Given the description of an element on the screen output the (x, y) to click on. 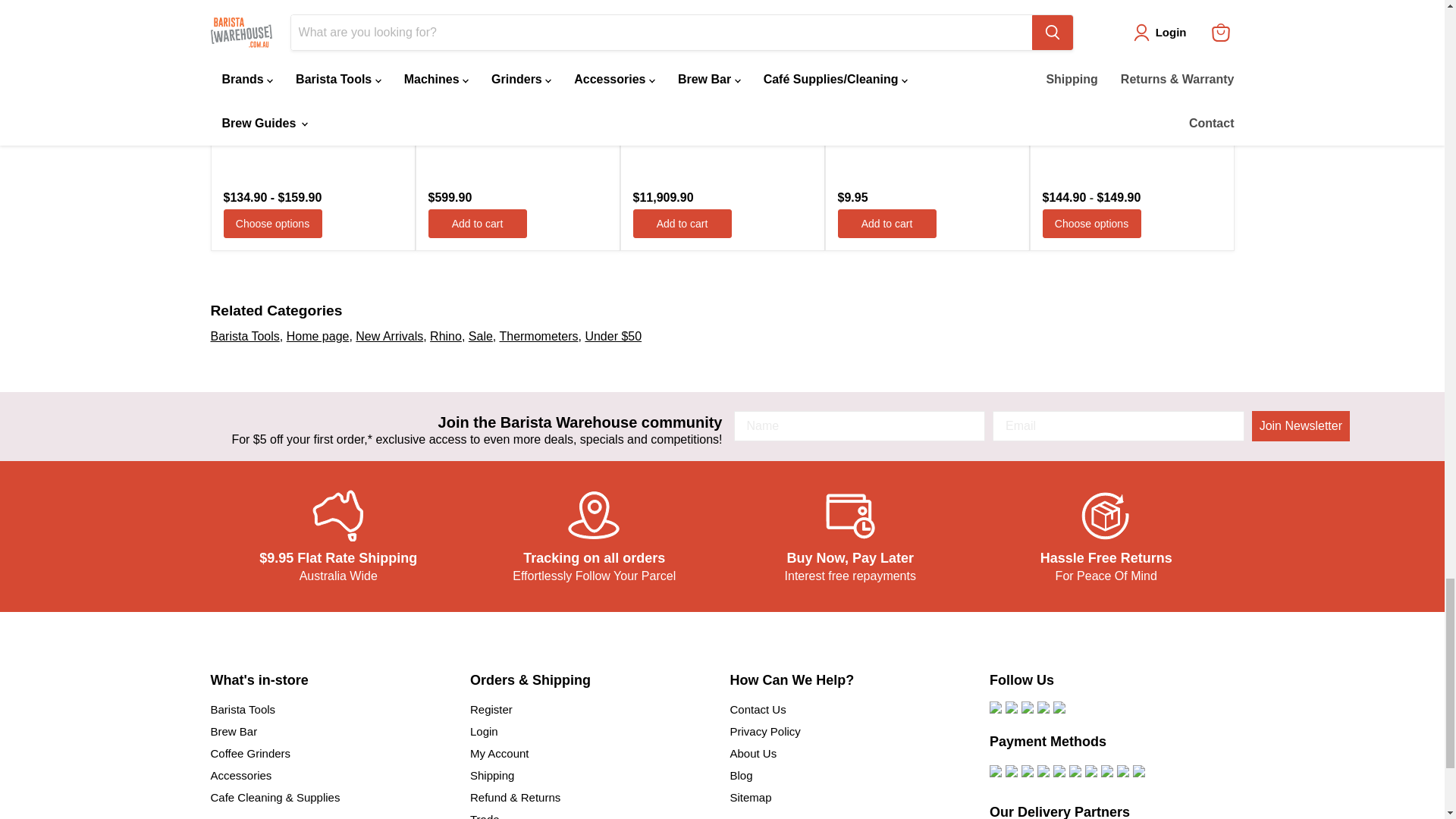
Rhino.title (445, 336)
New Arrivals.title (389, 336)
Sale.title (480, 336)
Thermometers.title (538, 336)
Home page.title (317, 336)
Barista Tools.title (245, 336)
